Given the description of an element on the screen output the (x, y) to click on. 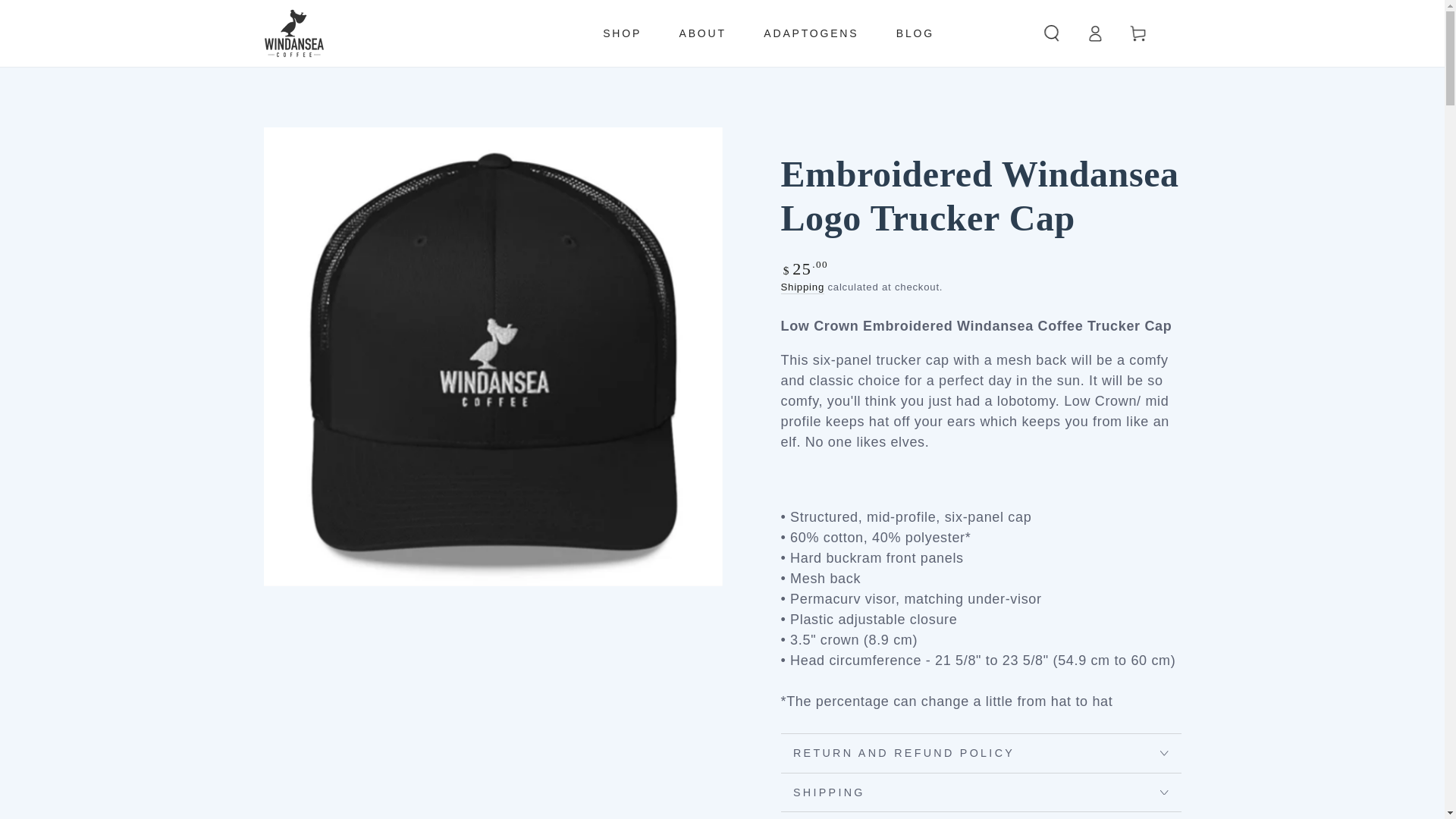
SHOP (622, 33)
SKIP TO CONTENT (74, 16)
